Given the description of an element on the screen output the (x, y) to click on. 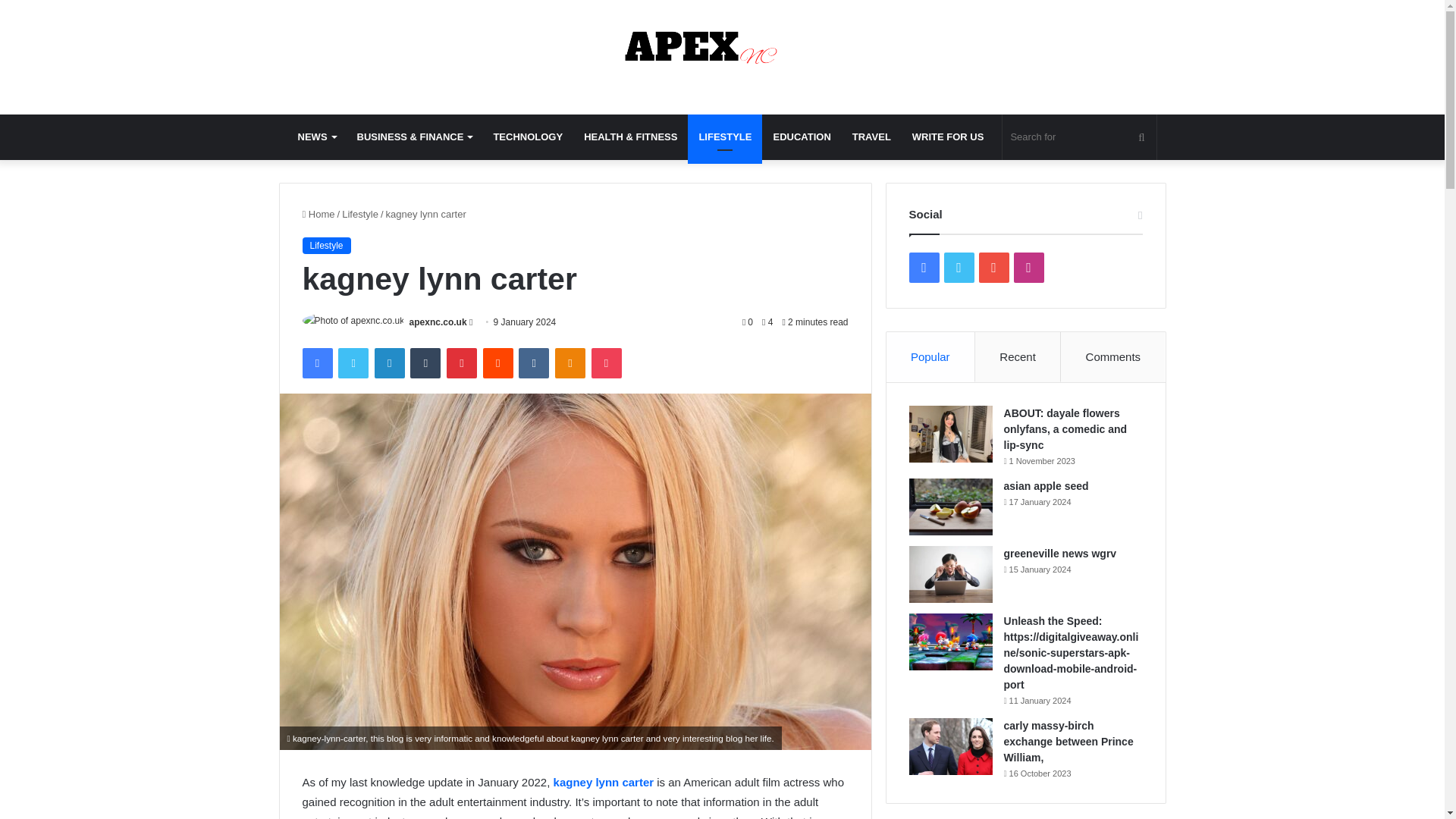
VKontakte (533, 363)
Pinterest (461, 363)
apexnc.co.uk (438, 321)
VKontakte (533, 363)
Twitter (352, 363)
Odnoklassniki (569, 363)
Pinterest (461, 363)
Reddit (498, 363)
Pocket (606, 363)
apexnc.co.uk (721, 48)
TRAVEL (871, 136)
Reddit (498, 363)
Lifestyle (360, 214)
Home (317, 214)
Tumblr (425, 363)
